Given the description of an element on the screen output the (x, y) to click on. 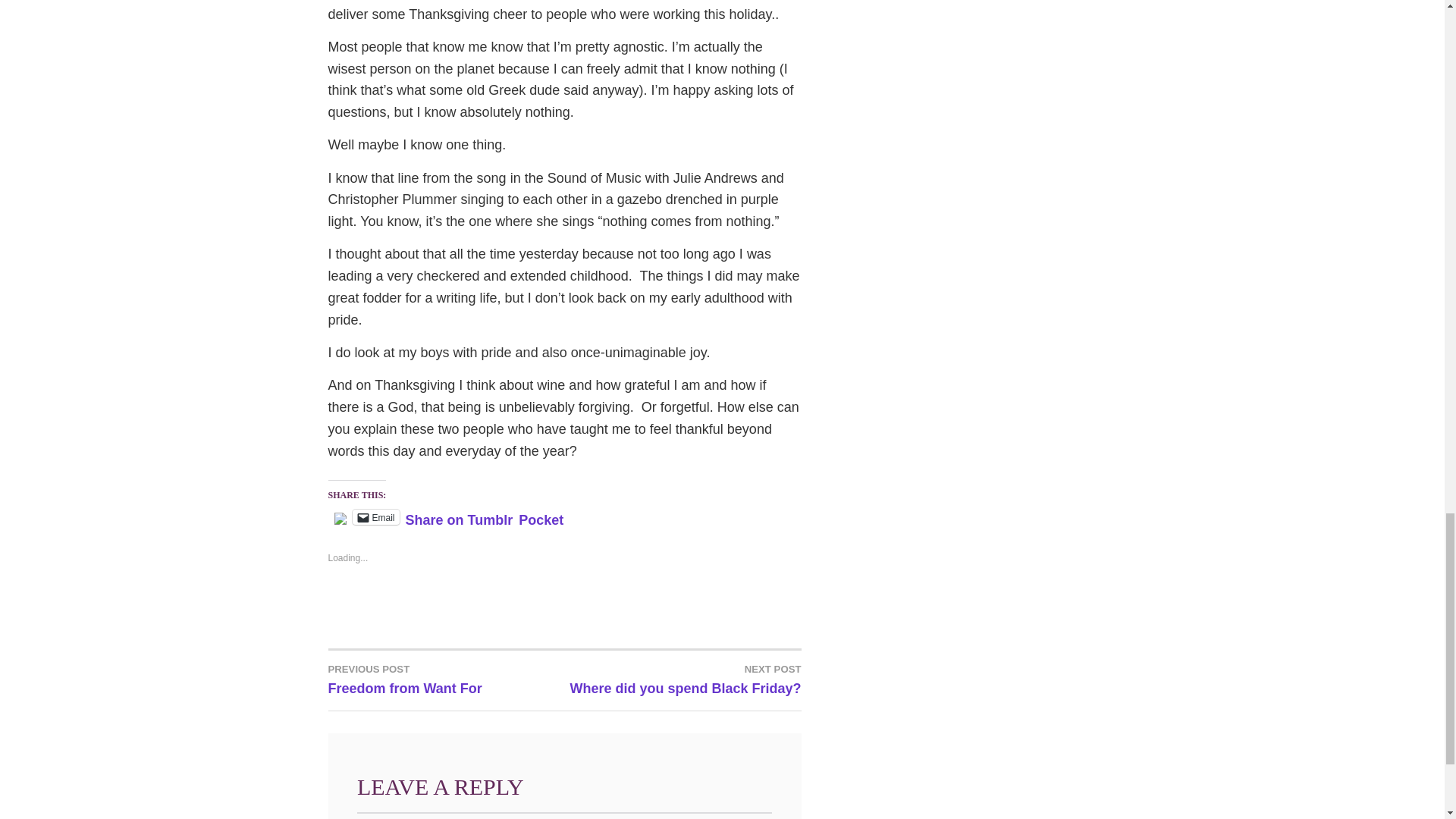
Email (375, 516)
Click to email a link to a friend (375, 516)
Share on Tumblr (459, 516)
Share on Tumblr (459, 516)
Pocket (682, 677)
